Given the description of an element on the screen output the (x, y) to click on. 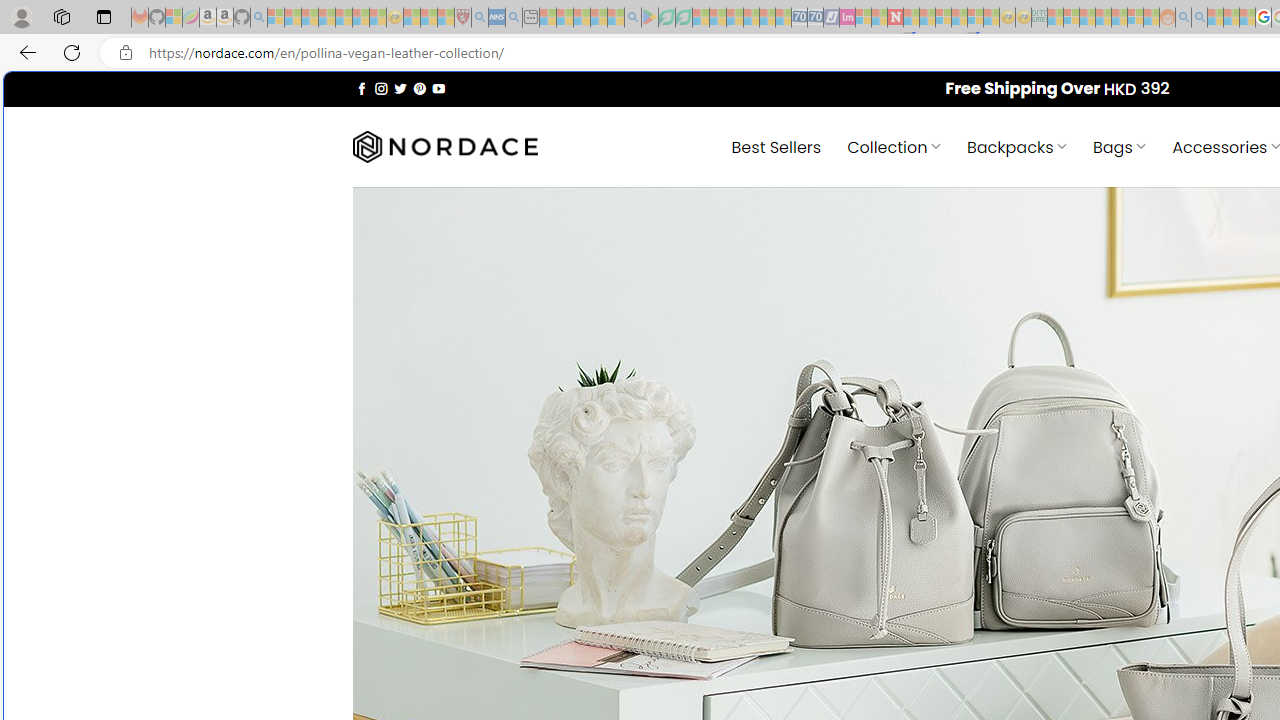
Jobs - lastminute.com Investor Portal - Sleeping (847, 17)
Terms of Use Agreement - Sleeping (666, 17)
utah sues federal government - Search - Sleeping (513, 17)
Pets - MSN - Sleeping (598, 17)
Follow on Instagram (381, 88)
